Given the description of an element on the screen output the (x, y) to click on. 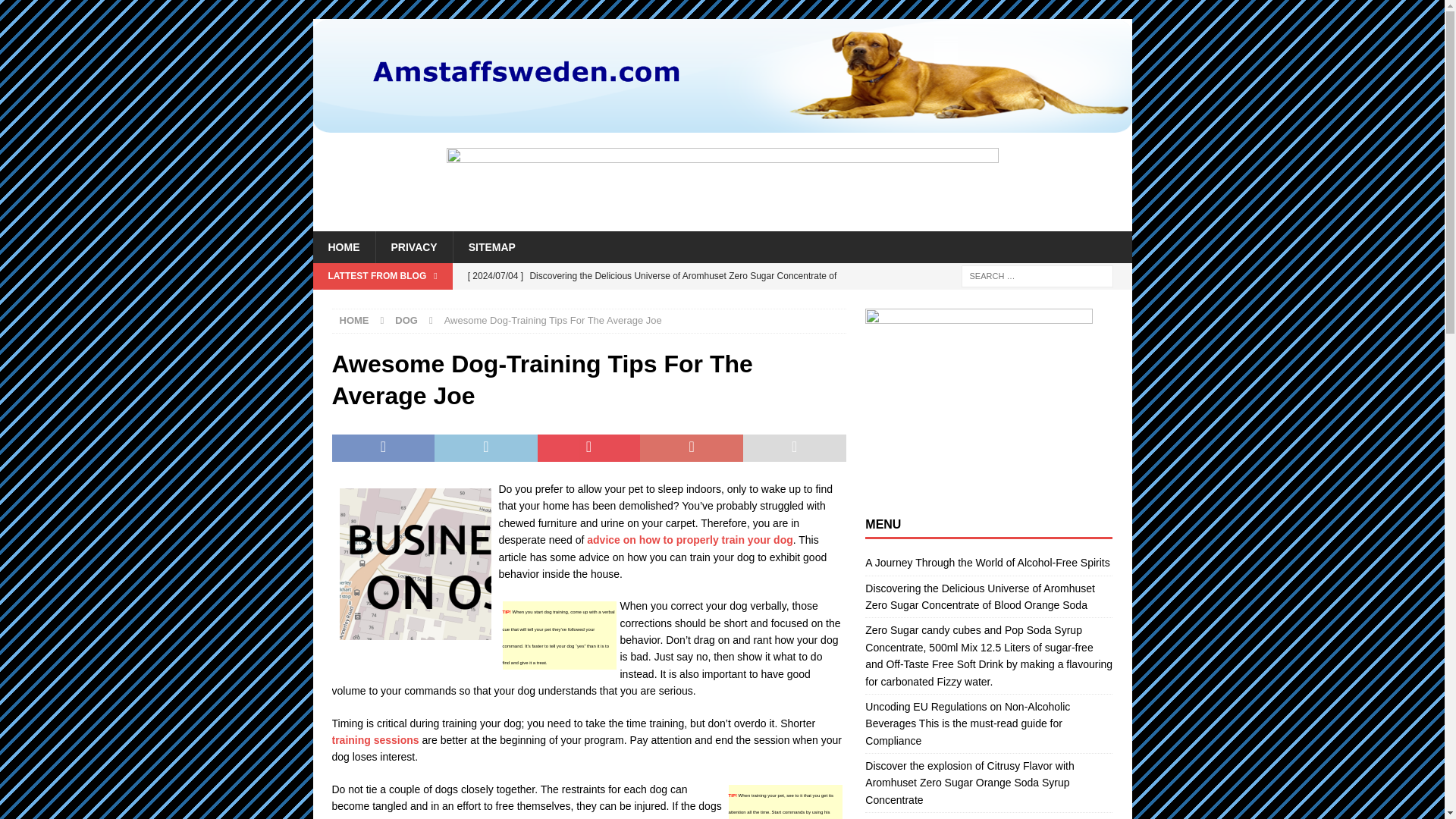
PRIVACY (412, 246)
Search (56, 11)
HOME (354, 319)
advice on how to properly train your dog (689, 539)
DOG (405, 319)
HOME (343, 246)
training sessions (375, 739)
SITEMAP (491, 246)
Amstaff Sweden (722, 123)
